Given the description of an element on the screen output the (x, y) to click on. 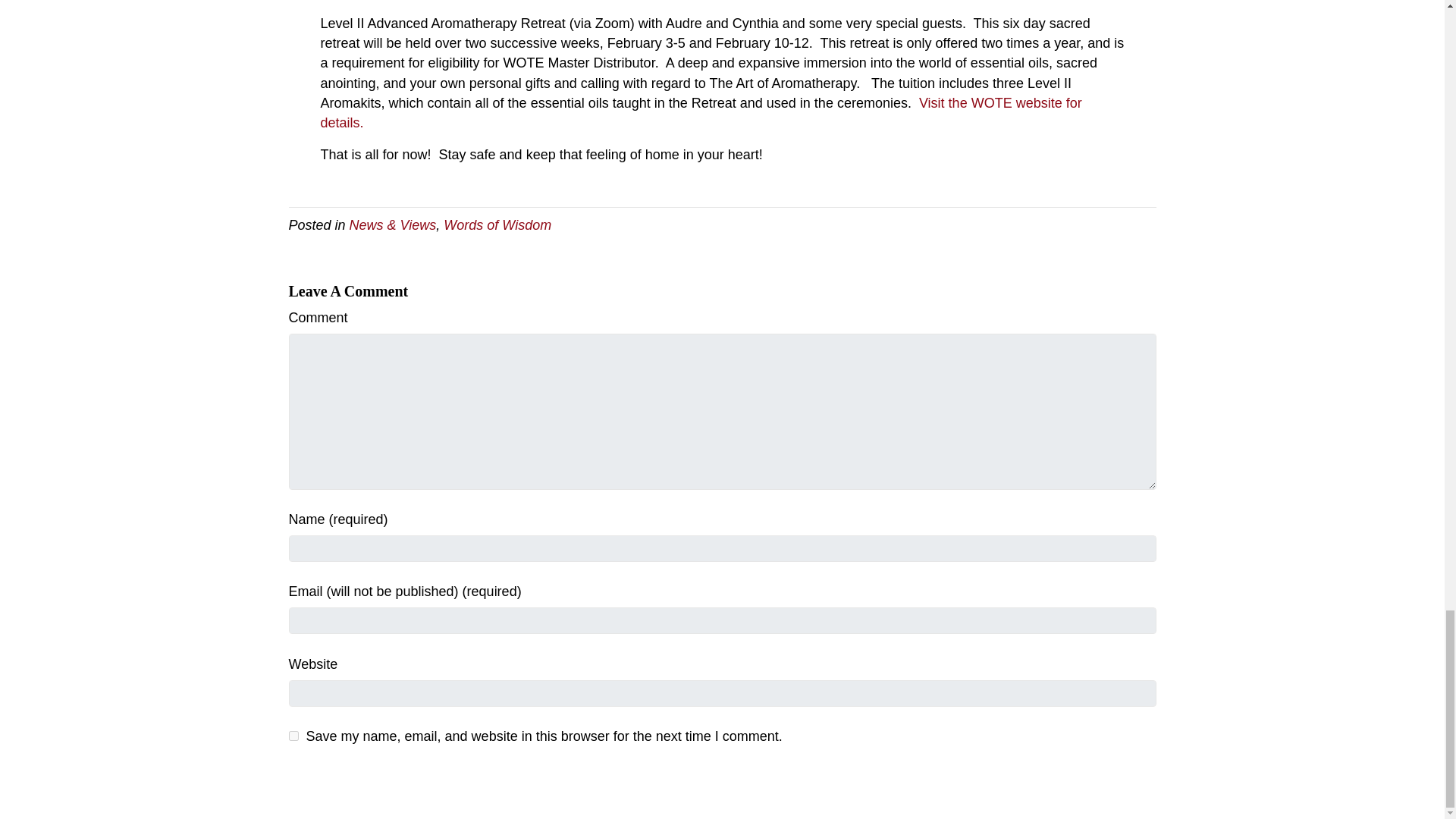
yes (293, 736)
